Given the description of an element on the screen output the (x, y) to click on. 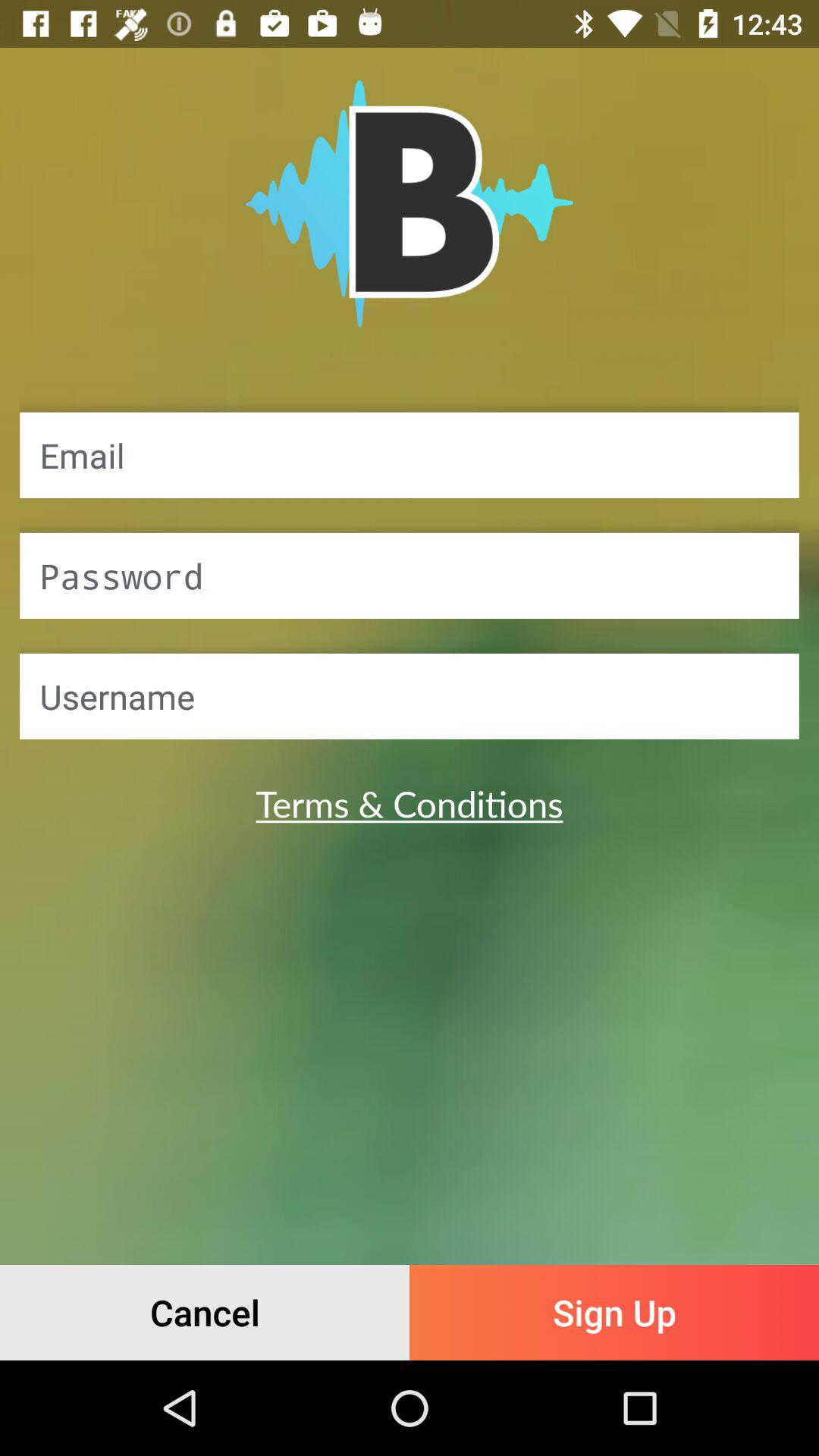
flip to the terms & conditions (409, 803)
